Given the description of an element on the screen output the (x, y) to click on. 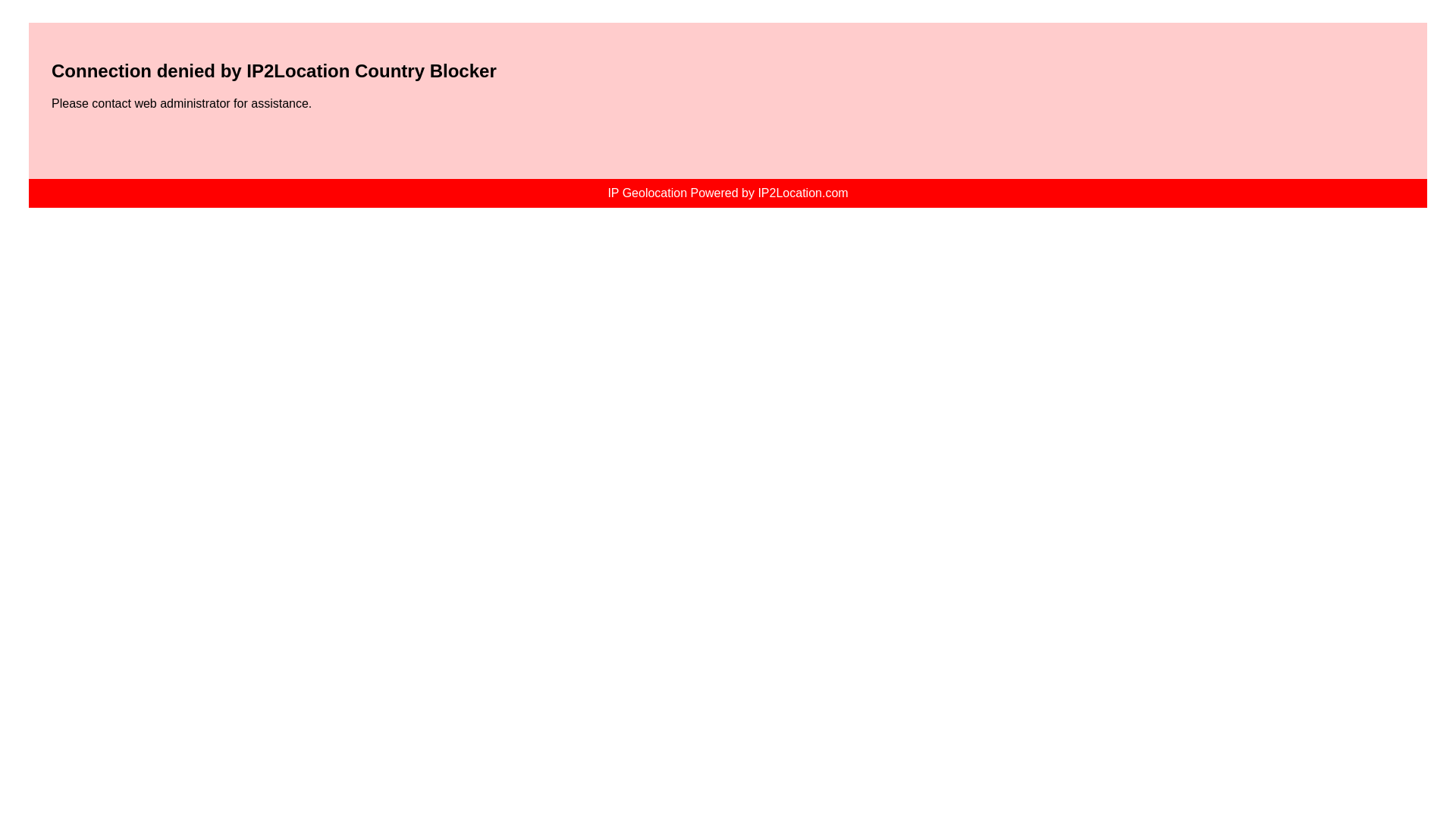
IP Geolocation Powered by IP2Location.com (727, 192)
